Given the description of an element on the screen output the (x, y) to click on. 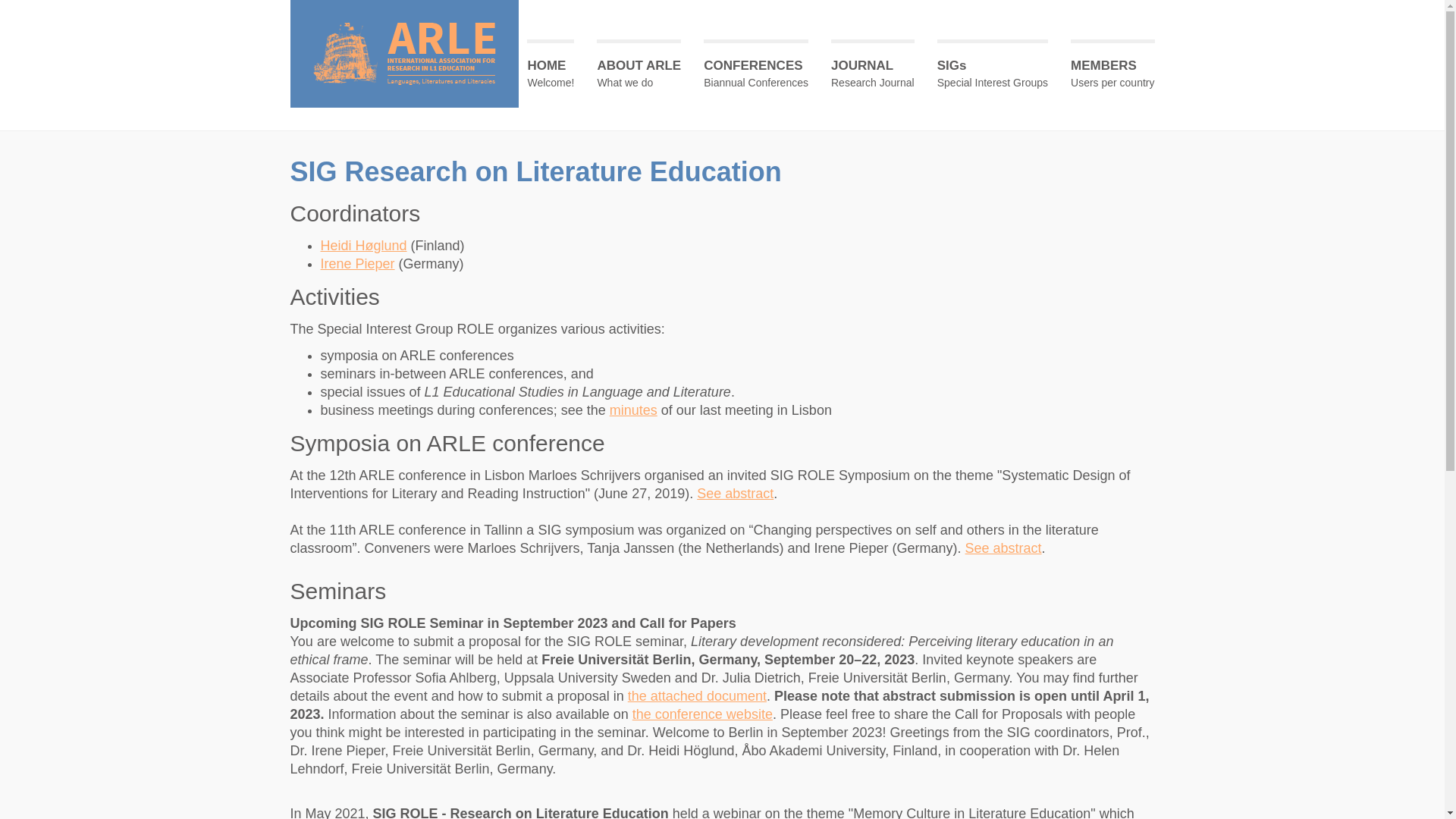
HOME
Welcome! Element type: text (550, 71)
Irene Pieper Element type: text (357, 263)
the conference website Element type: text (702, 713)
ABOUT ARLE
What we do Element type: text (638, 71)
minutes Element type: text (633, 409)
JOURNAL
Research Journal Element type: text (872, 71)
CONFERENCES
Biannual Conferences Element type: text (755, 71)
the attached document Element type: text (696, 695)
See abstract Element type: text (734, 493)
MEMBERS
Users per country Element type: text (1112, 71)
See abstract Element type: text (1003, 547)
SIGs
Special Interest Groups Element type: text (992, 71)
